Given the description of an element on the screen output the (x, y) to click on. 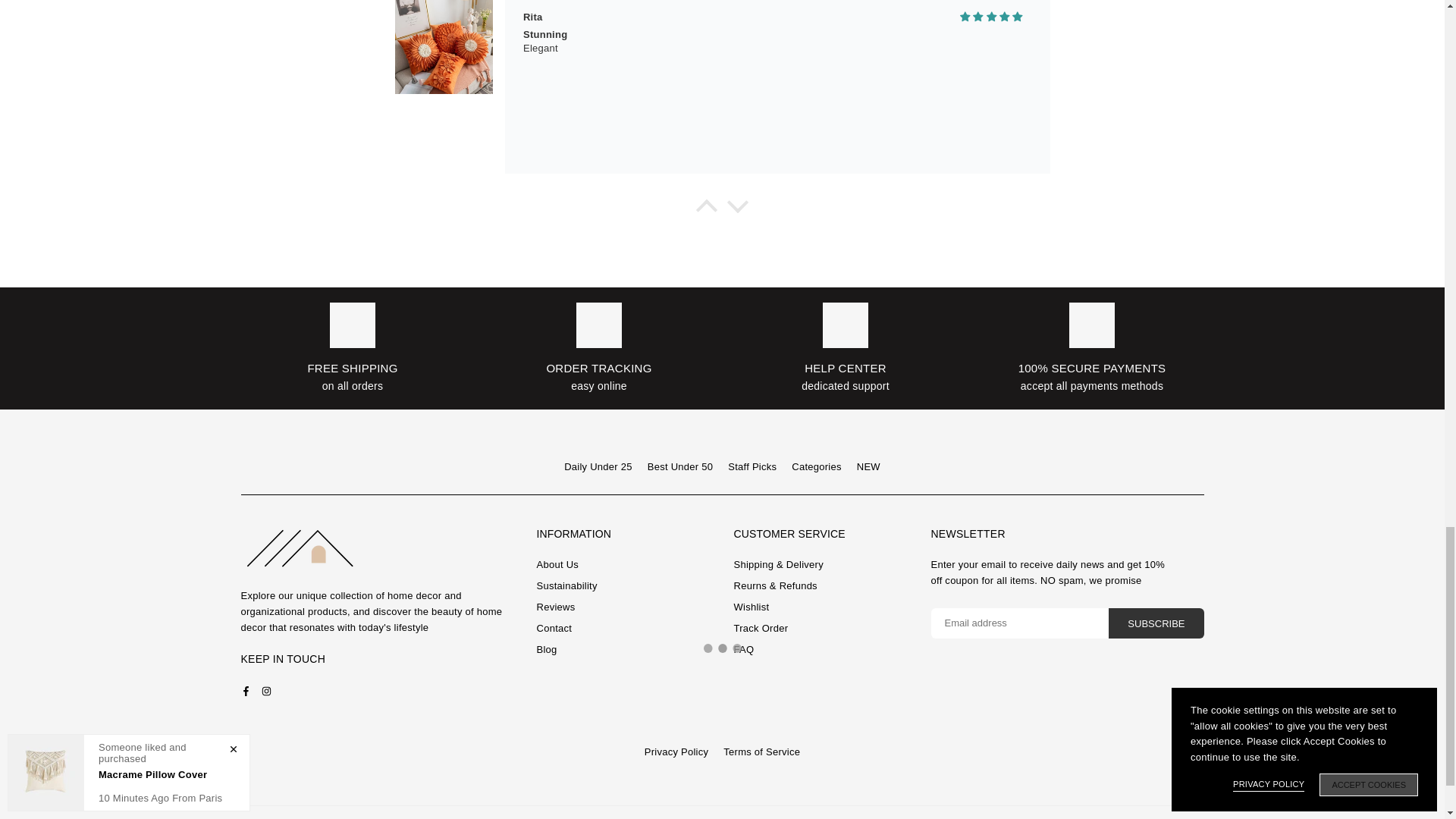
SUBSCRIBE (1156, 623)
